Given the description of an element on the screen output the (x, y) to click on. 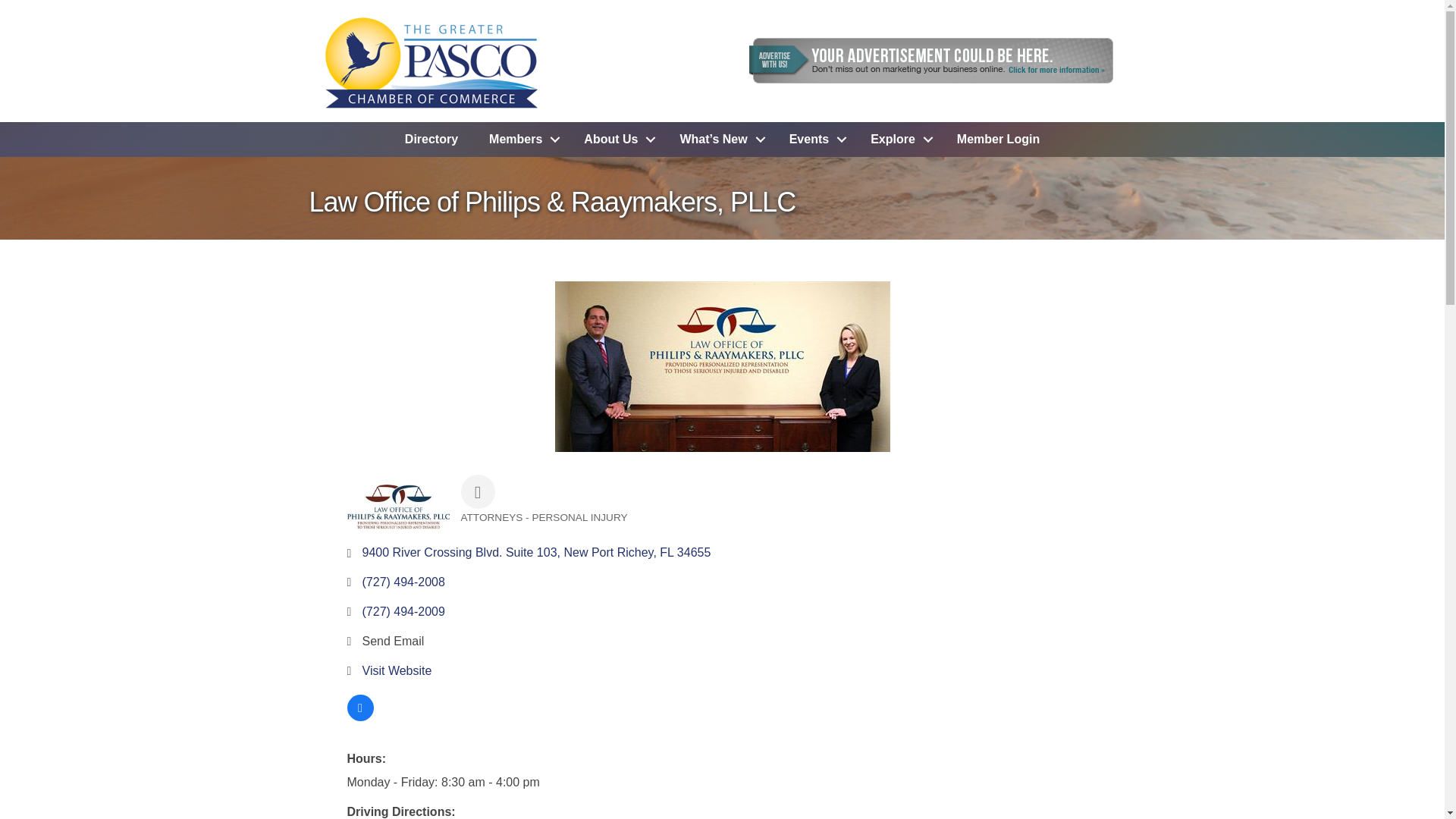
Members (520, 139)
Directory (431, 139)
Visit Website (397, 670)
Events (814, 139)
Member Login (998, 139)
9400 River Crossing Blvd. Suite 103 New Port Richey FL 34655 (536, 552)
About Us (616, 139)
View on Facebook (360, 716)
Explore (898, 139)
Send Email (393, 640)
